Given the description of an element on the screen output the (x, y) to click on. 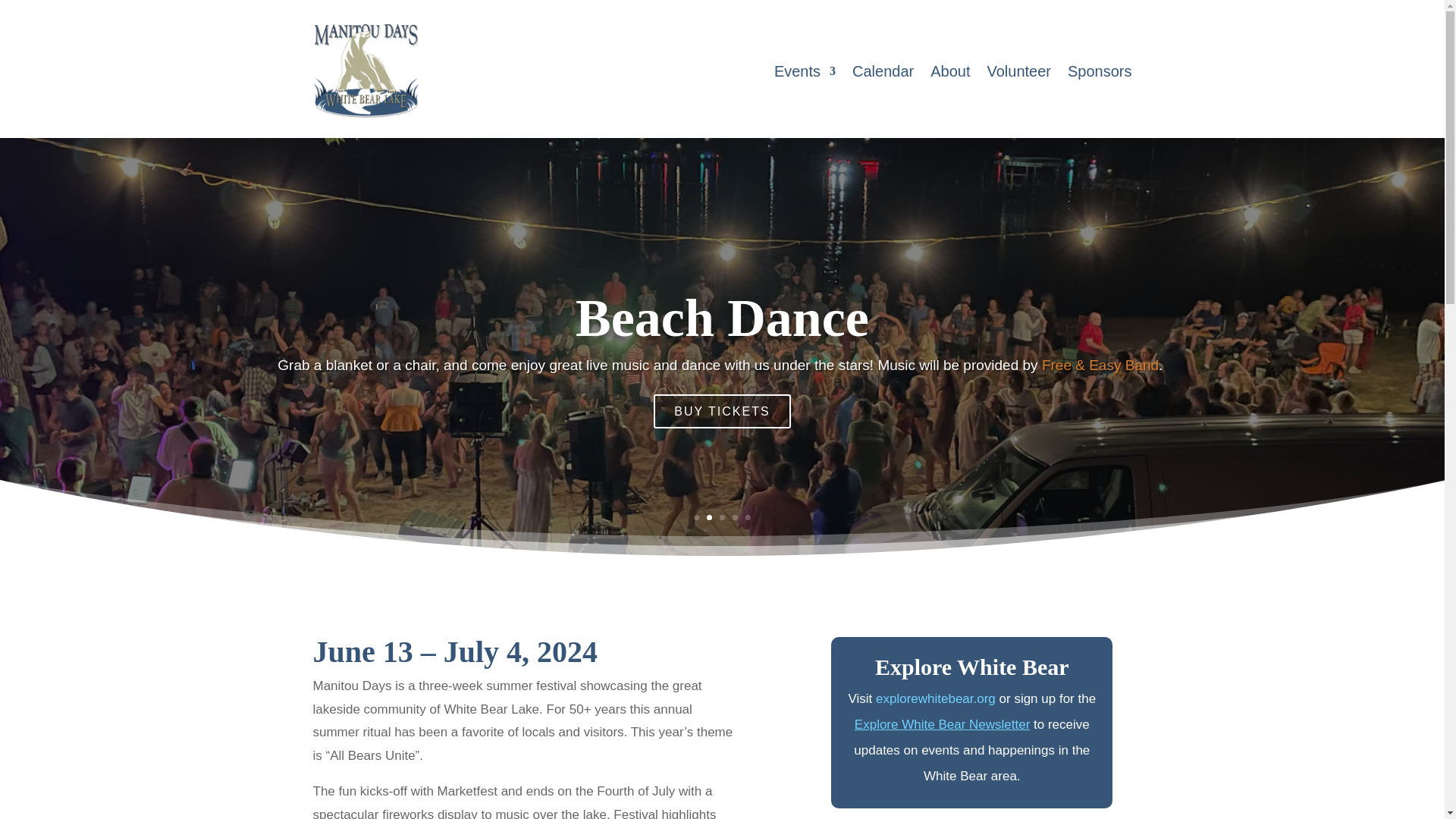
explorewhitebear.org (935, 698)
BUY TICKETS (721, 426)
Beach Dance (722, 334)
